Given the description of an element on the screen output the (x, y) to click on. 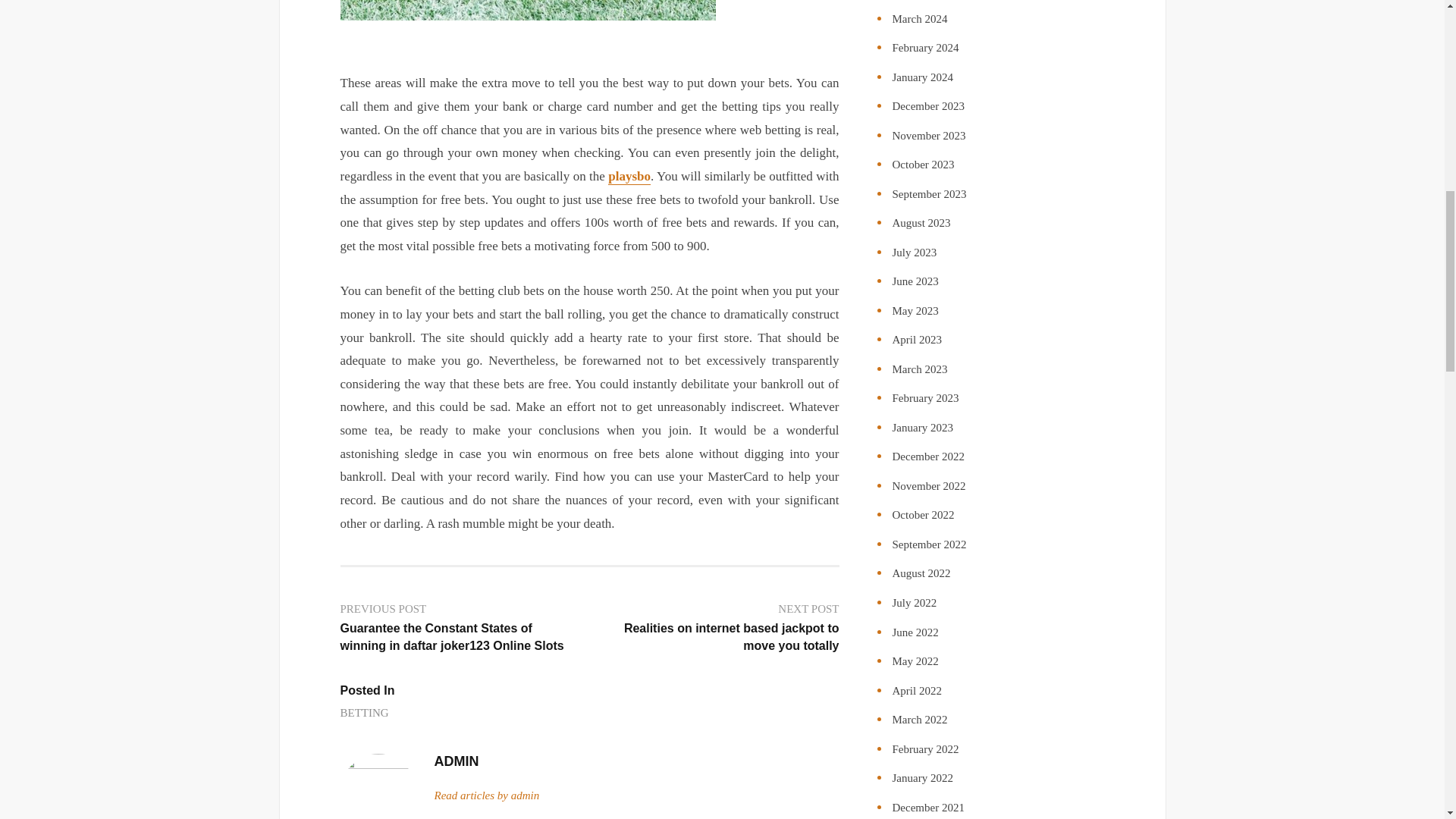
BETTING (363, 712)
playsbo (629, 176)
October 2023 (922, 164)
November 2023 (928, 135)
August 2023 (920, 223)
July 2023 (913, 252)
May 2023 (914, 310)
Read articles by admin (485, 795)
April 2023 (915, 339)
March 2023 (919, 369)
February 2024 (924, 47)
June 2023 (914, 281)
January 2024 (921, 77)
